Given the description of an element on the screen output the (x, y) to click on. 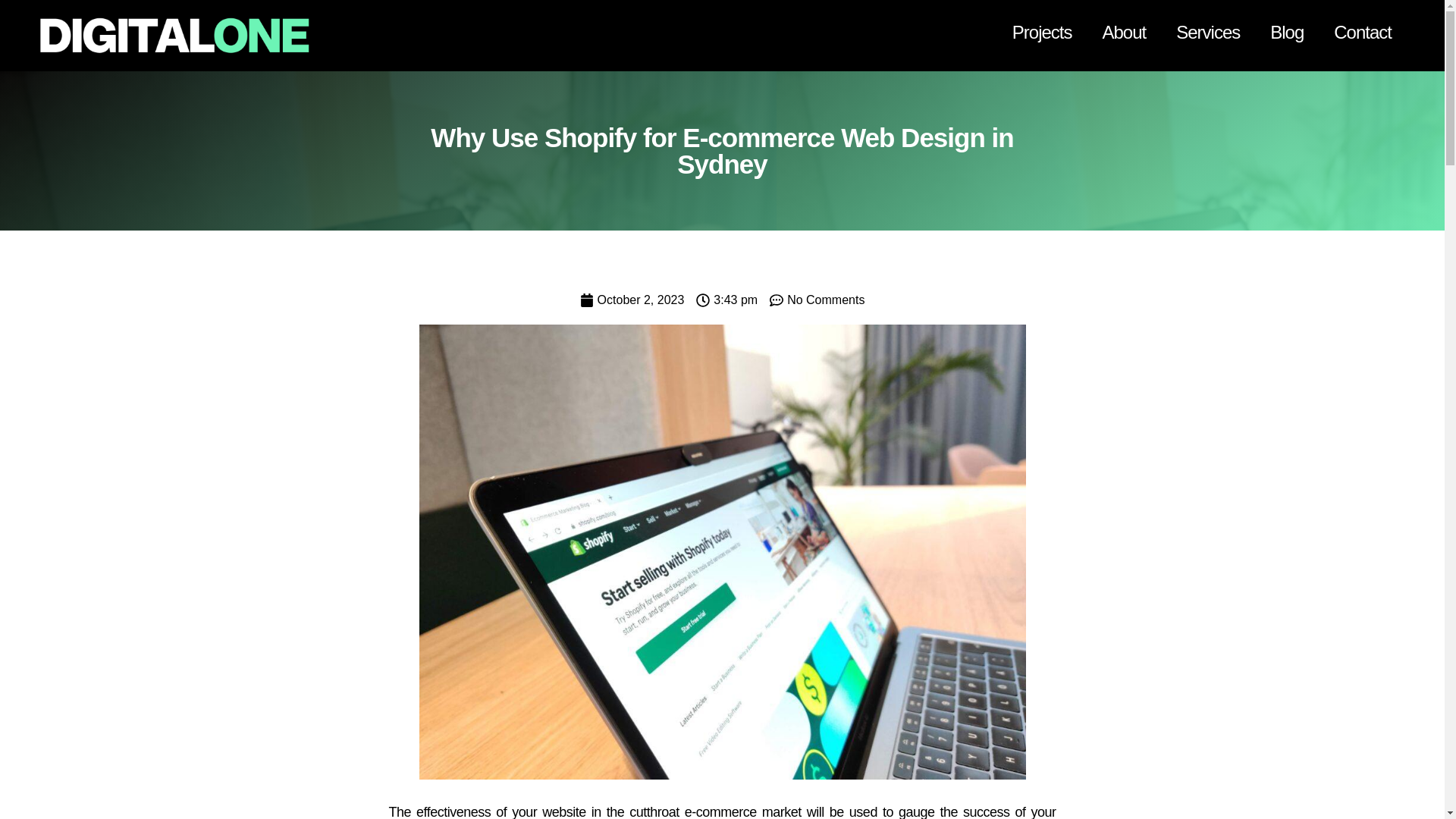
No Comments (817, 300)
Projects (1042, 32)
Contact (1362, 32)
Blog (1287, 32)
Services (1207, 32)
About (1123, 32)
October 2, 2023 (631, 300)
